Given the description of an element on the screen output the (x, y) to click on. 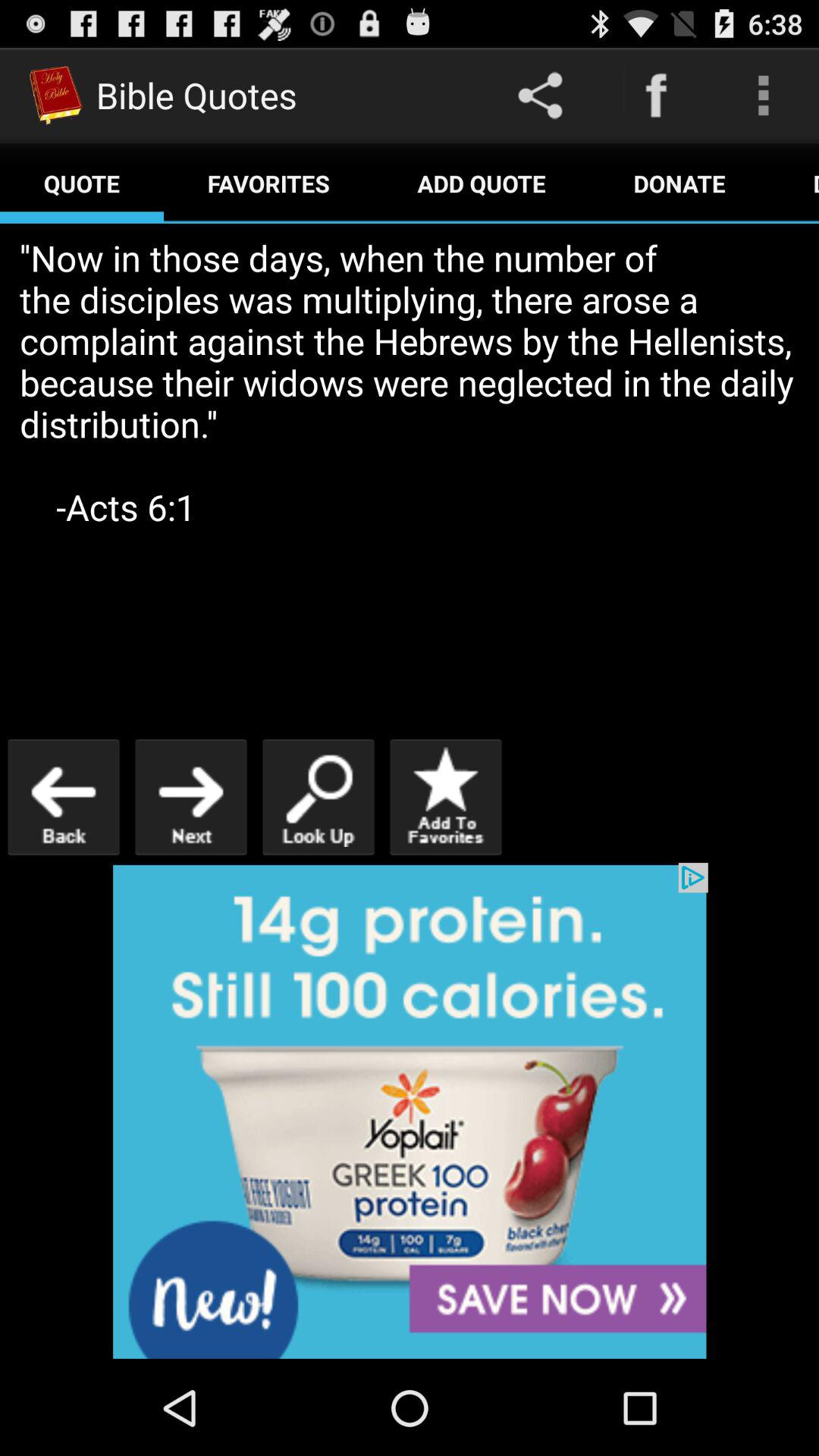
search (318, 796)
